Given the description of an element on the screen output the (x, y) to click on. 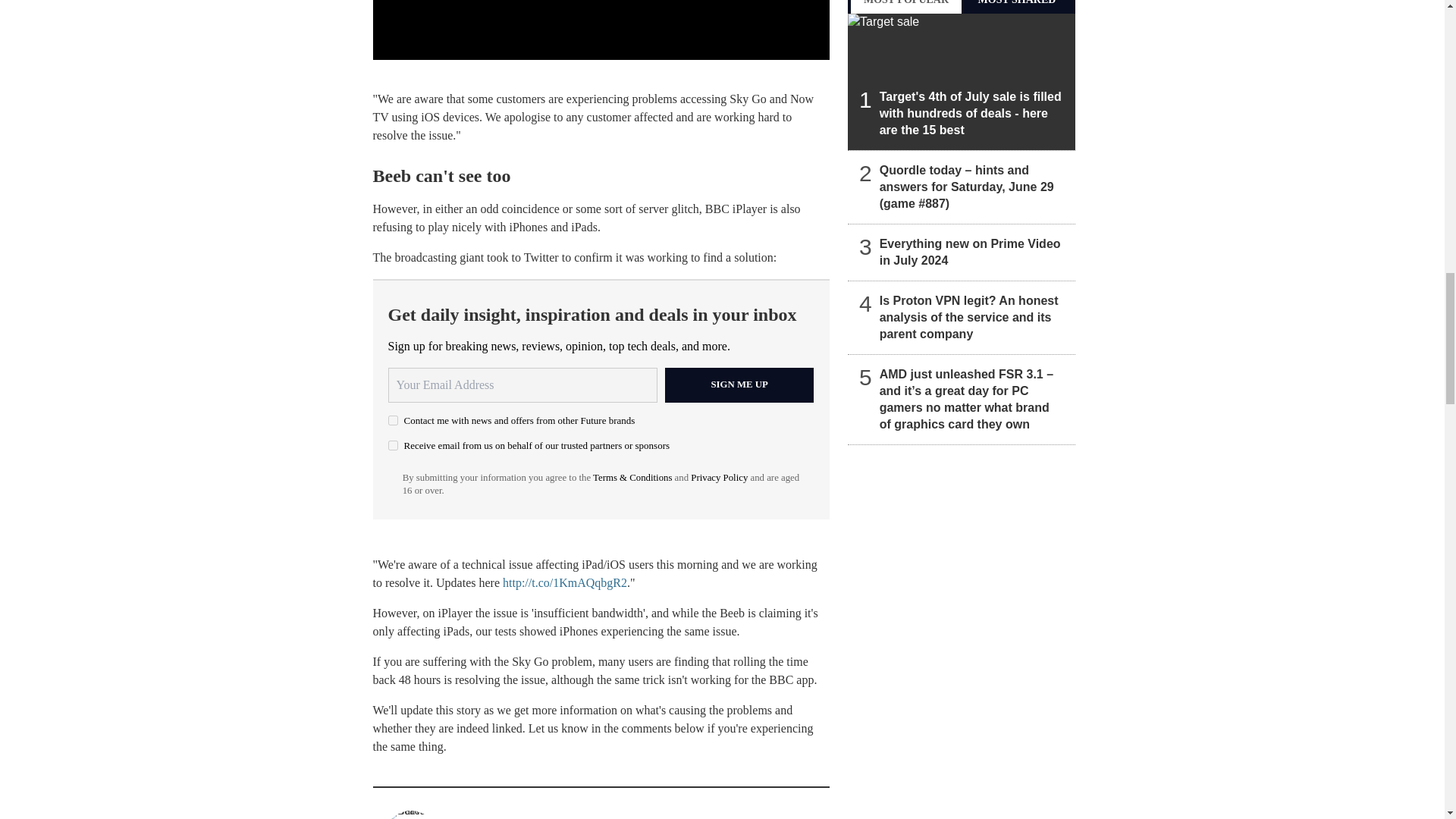
on (392, 420)
on (392, 445)
Sign me up (739, 384)
